Given the description of an element on the screen output the (x, y) to click on. 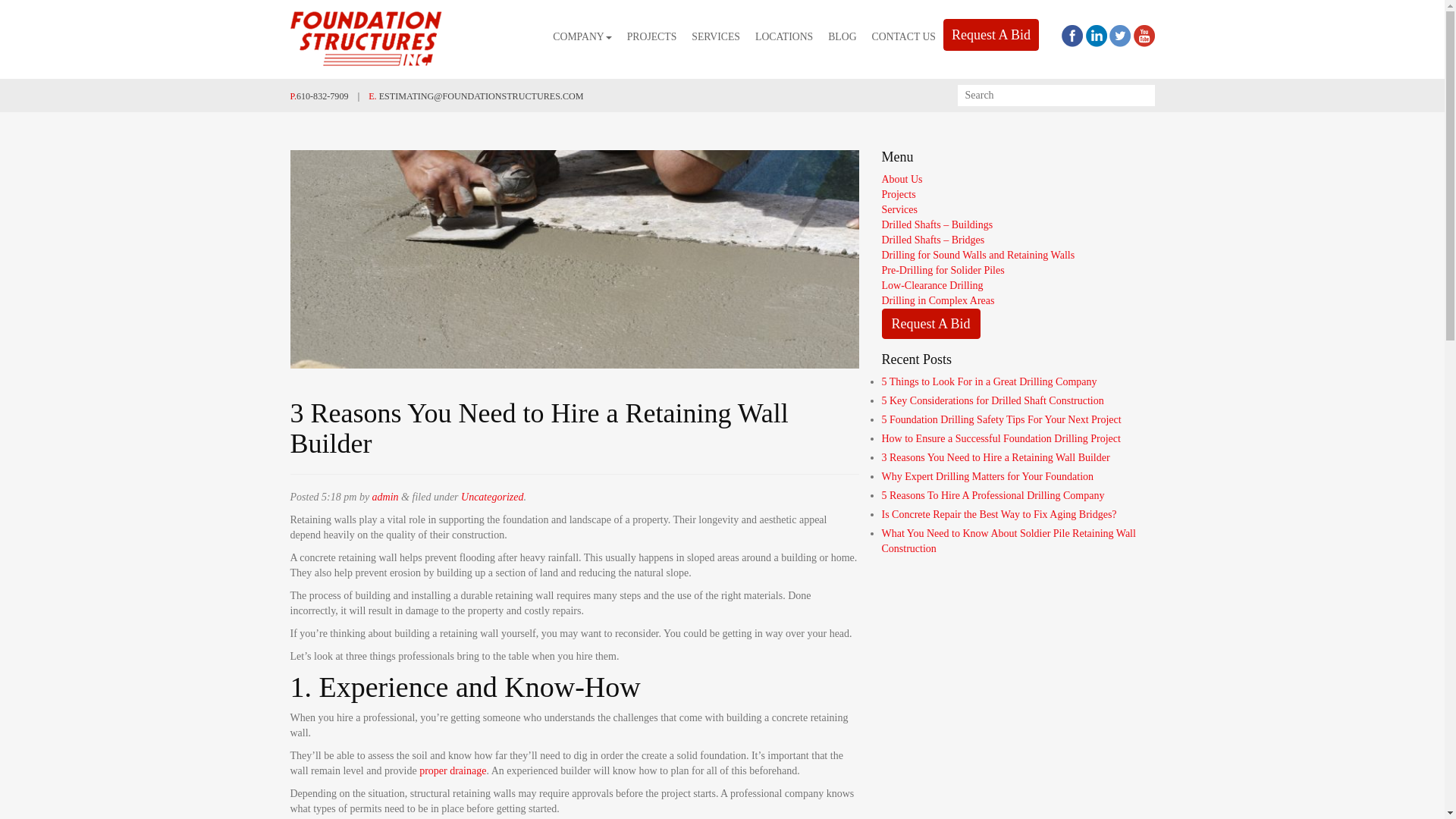
proper drainage (452, 770)
Projects (897, 194)
Drilling in Complex Areas (937, 300)
Posts by admin (385, 496)
5 Key Considerations for Drilled Shaft Construction (991, 400)
SERVICES (716, 37)
Drilling for Sound Walls and Retaining Walls (977, 255)
Request A Bid (990, 34)
Is Concrete Repair the Best Way to Fix Aging Bridges? (998, 514)
Why Expert Drilling Matters for Your Foundation (986, 476)
CONTACT US (903, 37)
About Us (900, 179)
LOCATIONS (784, 37)
admin (385, 496)
COMPANY (581, 37)
